Given the description of an element on the screen output the (x, y) to click on. 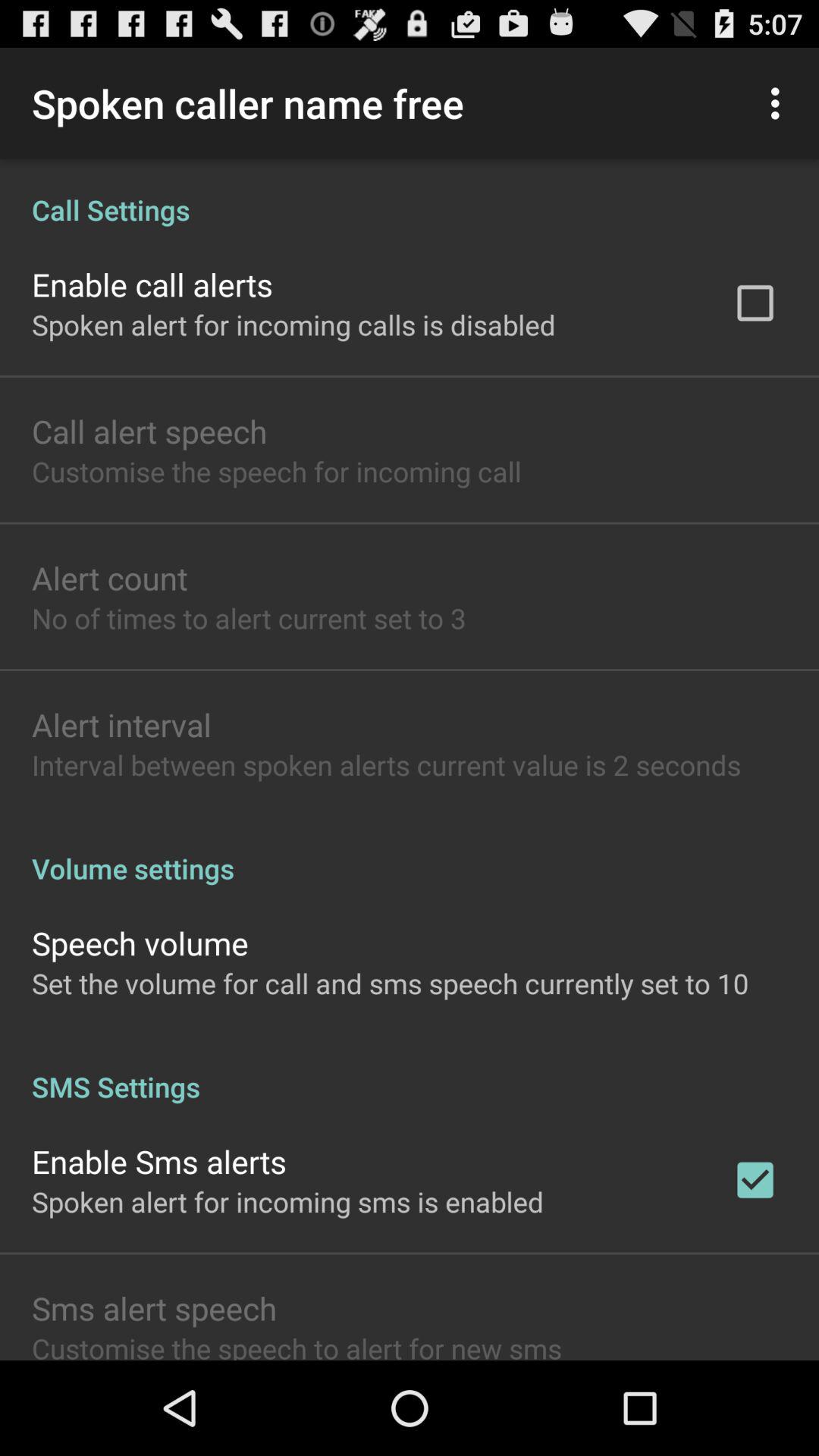
open call settings app (409, 193)
